Given the description of an element on the screen output the (x, y) to click on. 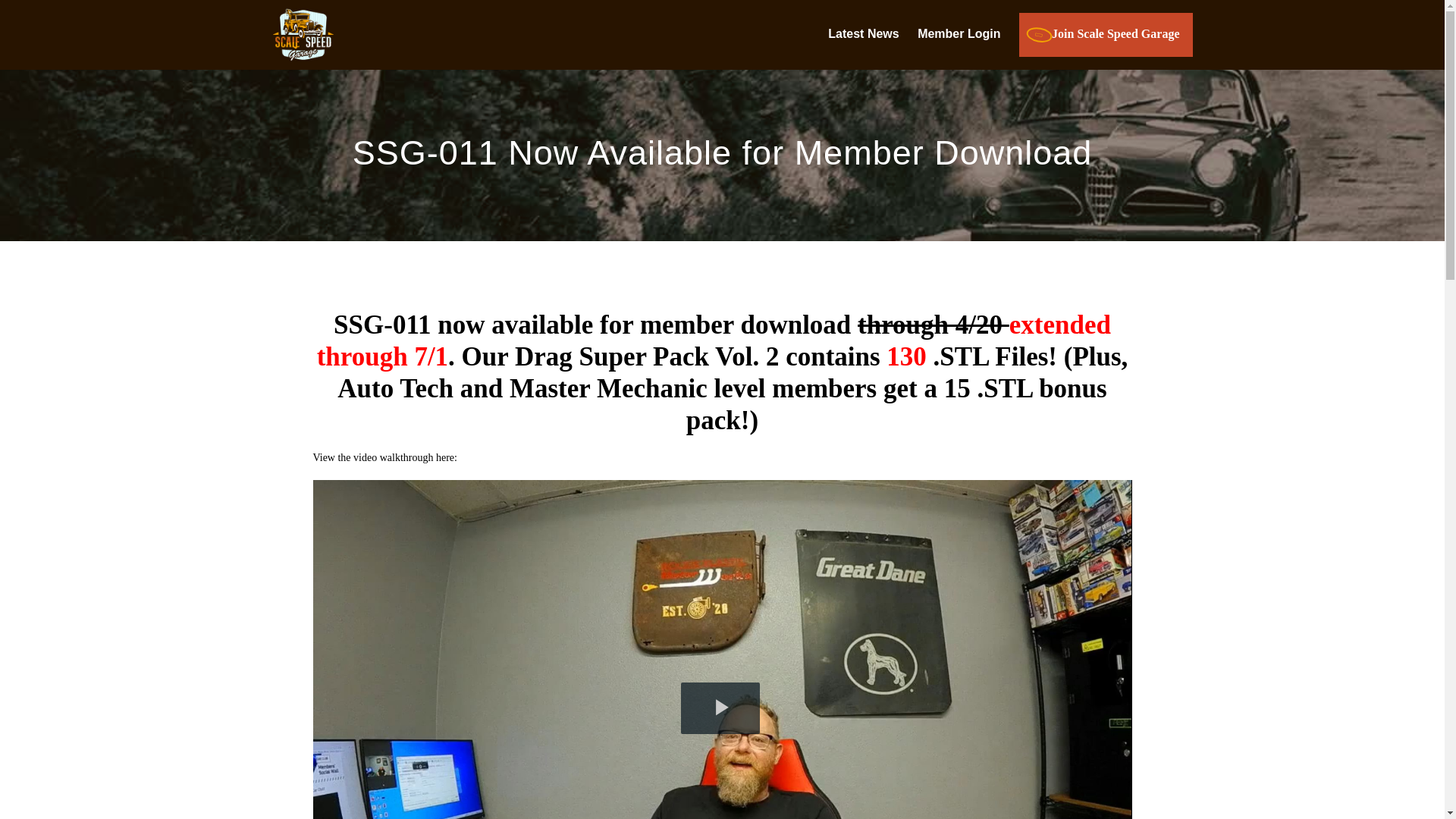
Join Scale Speed Garage (1105, 34)
Play Video (720, 707)
Play Video (720, 707)
Latest News (863, 34)
Member Login (958, 34)
